Given the description of an element on the screen output the (x, y) to click on. 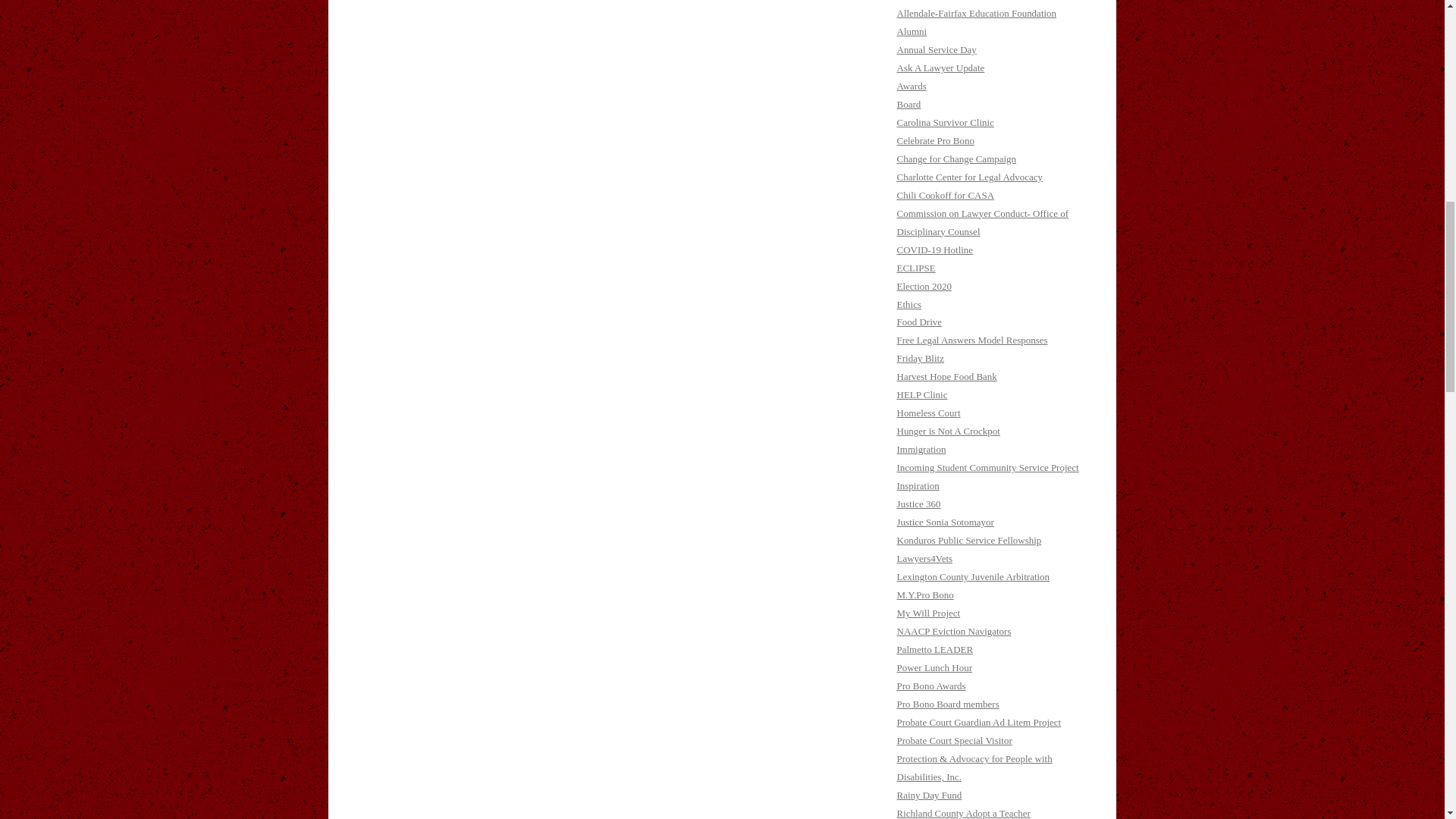
Awards (911, 85)
Allendale-Fairfax Education Foundation (976, 12)
Alumni (911, 30)
Board (908, 103)
Annual Service Day (935, 49)
Administrivia (923, 0)
Ask A Lawyer Update (940, 67)
Carolina Survivor Clinic (944, 122)
